Given the description of an element on the screen output the (x, y) to click on. 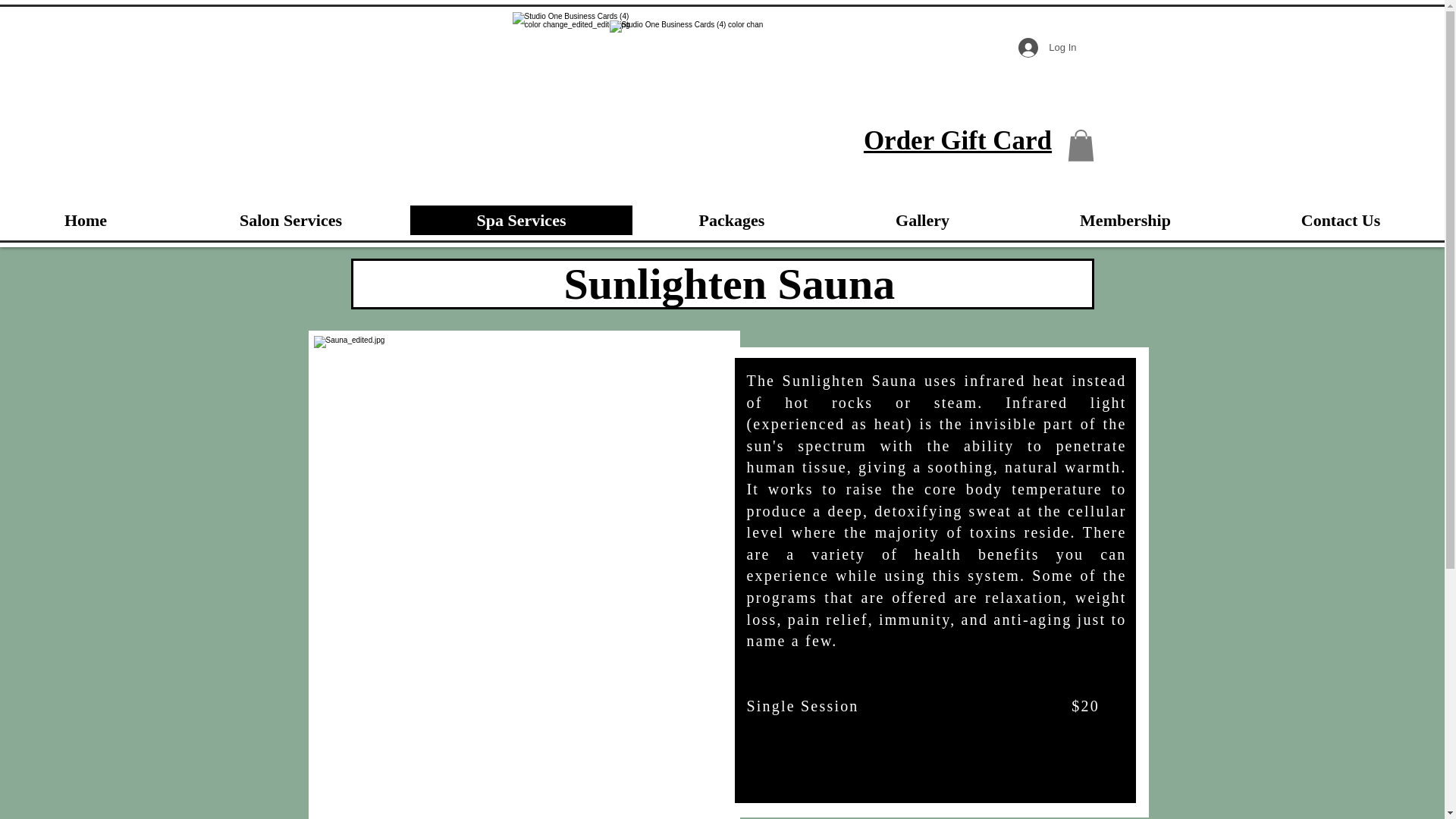
Home (85, 220)
Packages (730, 220)
Log In (1046, 47)
Membership (1124, 220)
Order Gift Card (957, 139)
Spa Services (520, 220)
Gallery (921, 220)
Salon Services (290, 220)
